Given the description of an element on the screen output the (x, y) to click on. 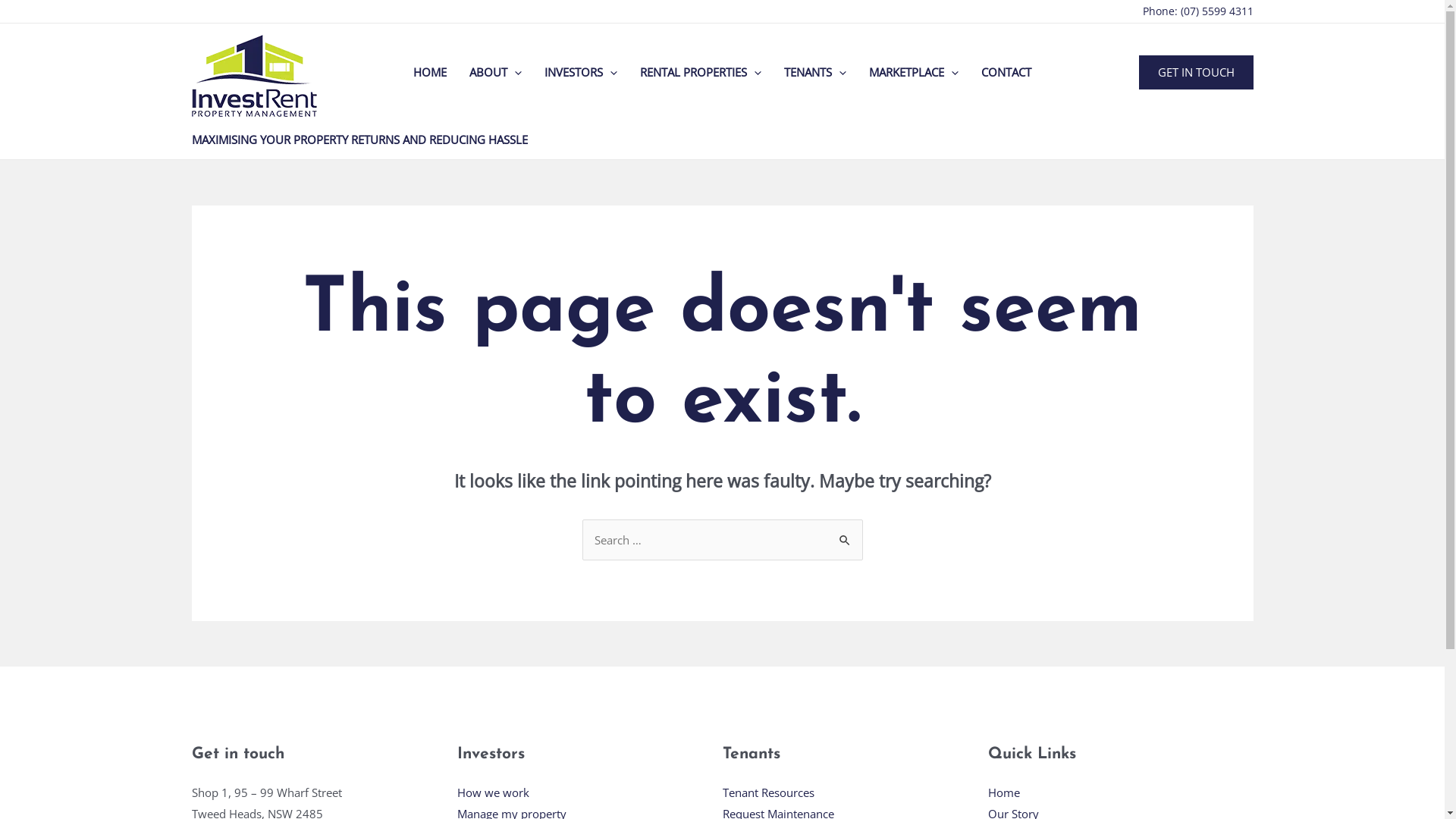
INVESTORS Element type: text (580, 71)
RENTAL PROPERTIES Element type: text (700, 71)
Home Element type: text (1003, 792)
TENANTS Element type: text (814, 71)
How we work Element type: text (492, 792)
CONTACT Element type: text (1005, 71)
Search Element type: text (845, 534)
GET IN TOUCH Element type: text (1196, 71)
Tenant Resources Element type: text (767, 792)
MARKETPLACE Element type: text (913, 71)
(07) 5599 4311 Element type: text (1215, 10)
ABOUT Element type: text (495, 71)
HOME Element type: text (429, 71)
